Given the description of an element on the screen output the (x, y) to click on. 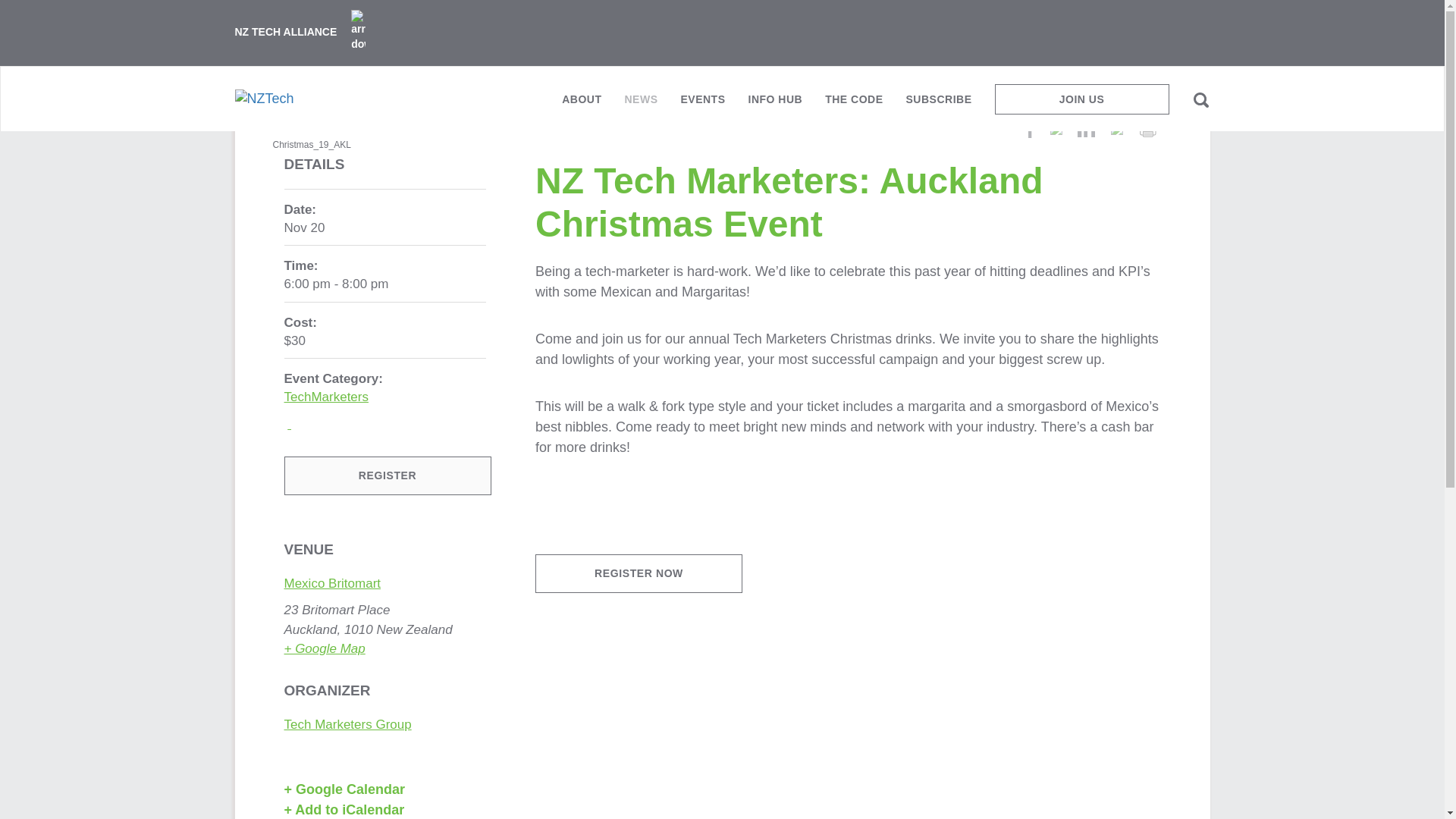
2019-11-20 (303, 227)
ABOUT (581, 104)
Download .ics file (384, 809)
NZTech (264, 98)
Add to Google Calendar (381, 789)
Click to view a Google Map (324, 648)
2019-11-20 (384, 284)
Print this page (1147, 128)
